Given the description of an element on the screen output the (x, y) to click on. 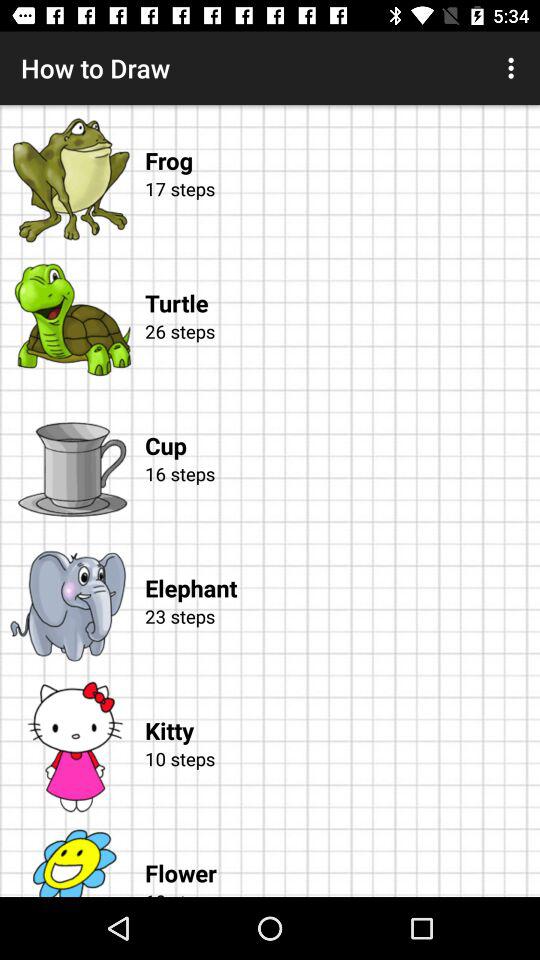
tap item below the 16 steps icon (342, 568)
